Given the description of an element on the screen output the (x, y) to click on. 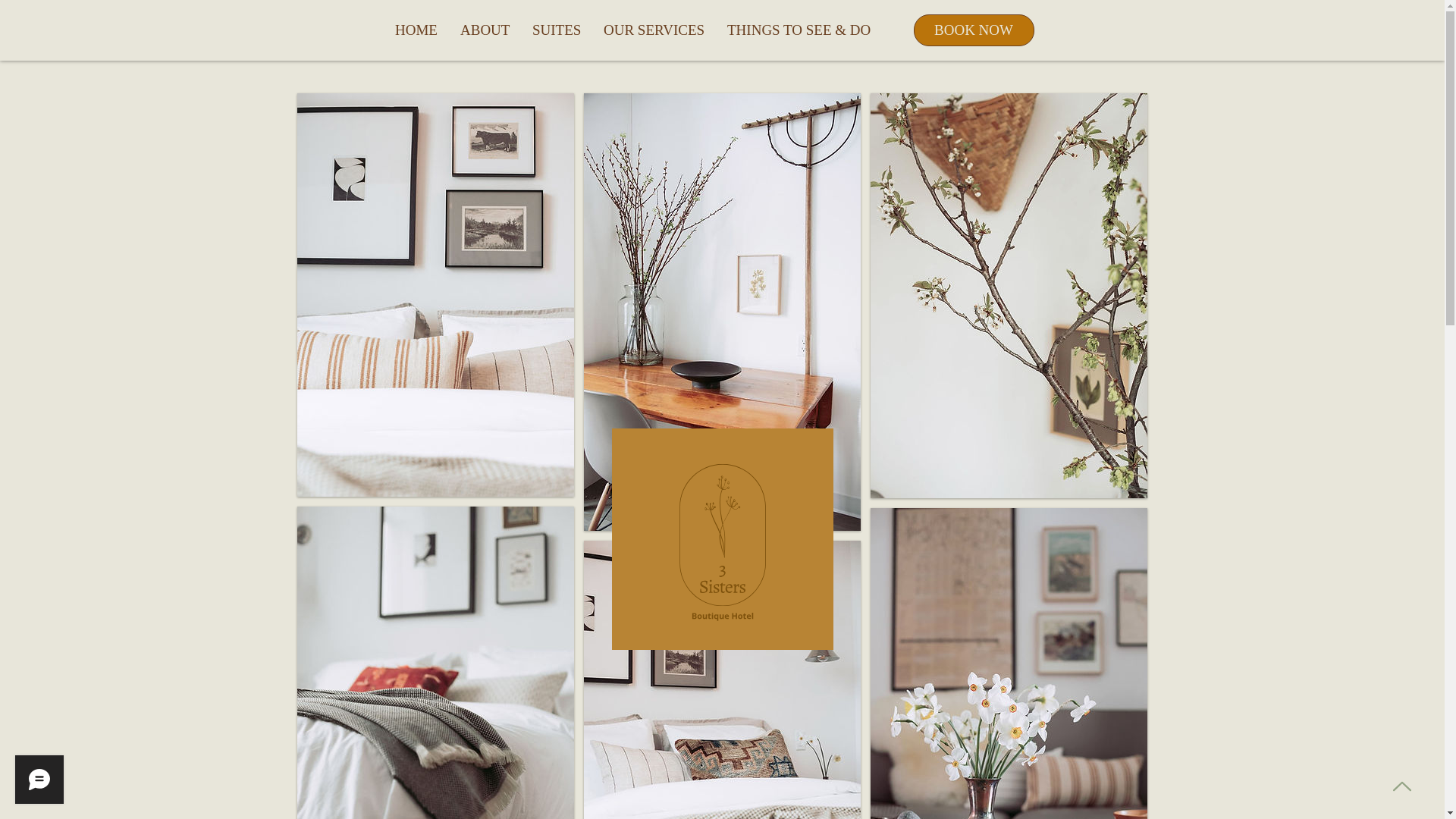
OUR SERVICES Element type: text (653, 30)
ABOUT Element type: text (484, 30)
HOME Element type: text (415, 30)
BOOK NOW Element type: text (973, 30)
SUITES Element type: text (556, 30)
THINGS TO SEE & DO Element type: text (798, 30)
